Given the description of an element on the screen output the (x, y) to click on. 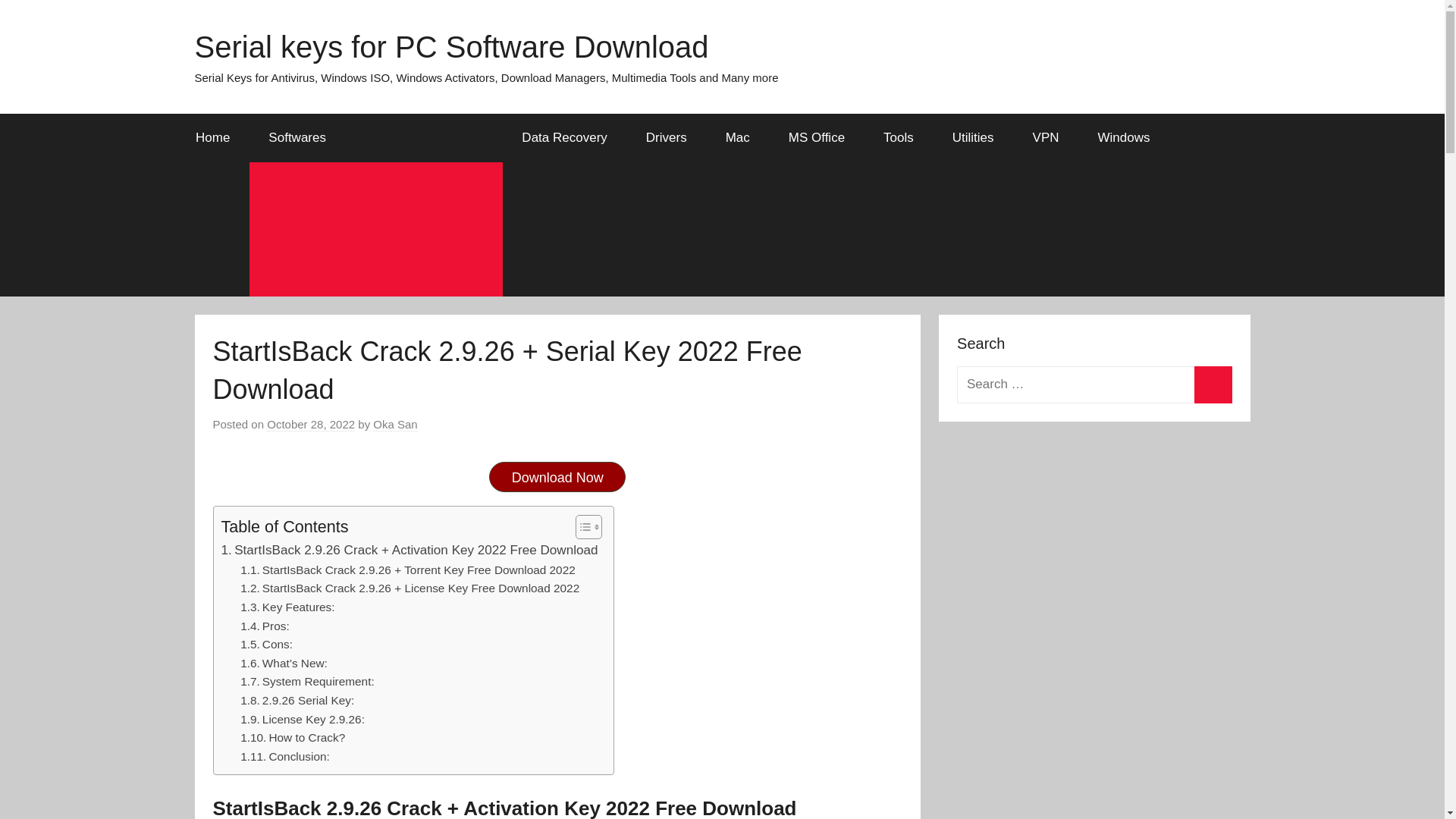
License Key 2.9.26: (302, 719)
Cons: (266, 644)
System Requirement: (307, 681)
View all posts by Oka San (394, 424)
Utilities (973, 137)
2.9.26 Serial Key: (296, 700)
Windows (1123, 137)
Key Features: (287, 607)
Softwares (375, 137)
Mac (737, 137)
Data Recovery (564, 137)
MS Office (815, 137)
How to Crack? (292, 737)
Tools (898, 137)
Conclusion: (285, 756)
